Given the description of an element on the screen output the (x, y) to click on. 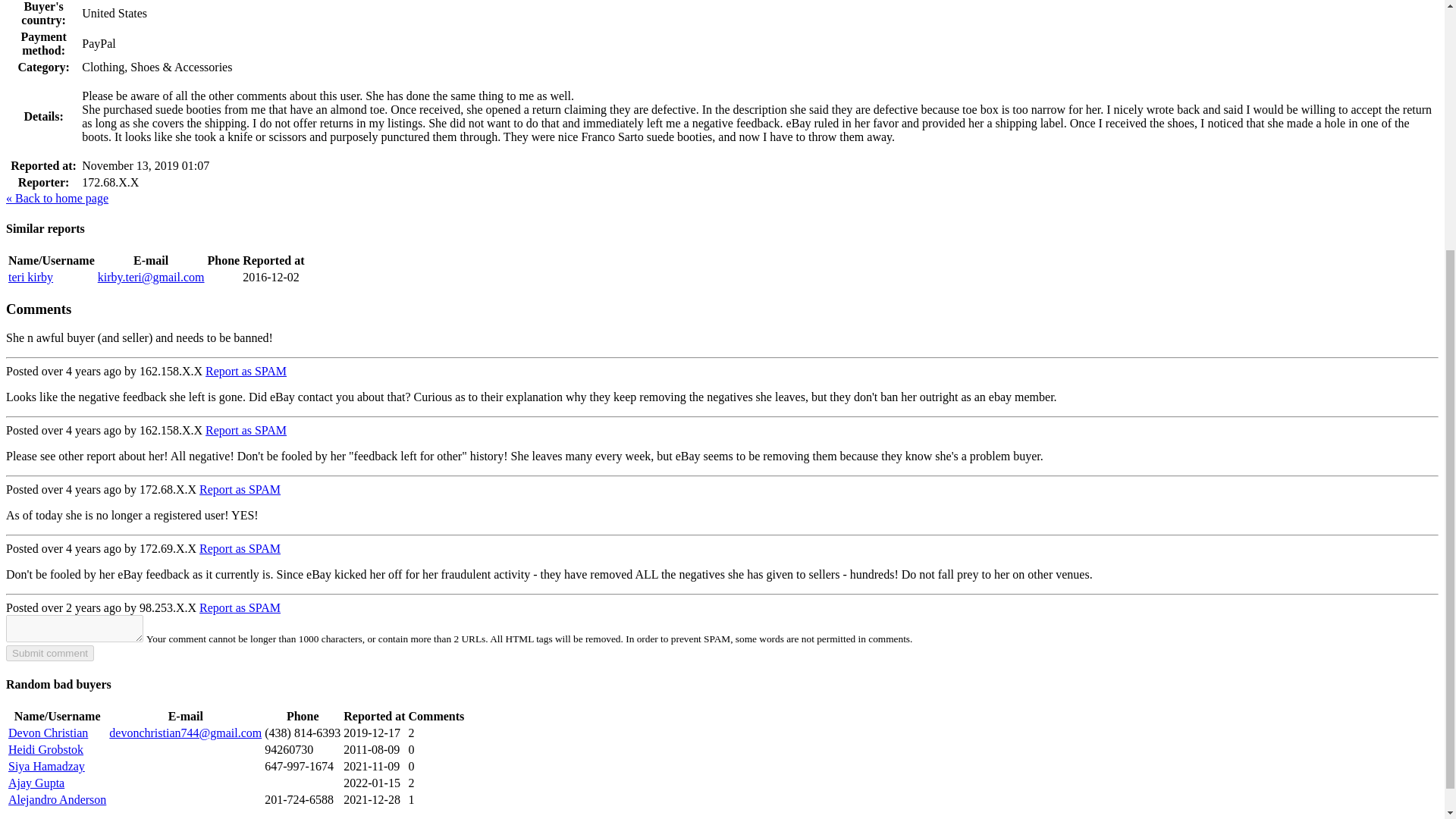
Heidi Grobstok (45, 748)
Report as SPAM (240, 607)
Report as SPAM (245, 370)
Report as SPAM (240, 548)
Submit comment (49, 652)
Alejandro Anderson (57, 799)
Siya Hamadzay (46, 766)
Ajay Gupta (36, 782)
Devon Christian (47, 732)
Report as SPAM (240, 489)
Report as SPAM (245, 430)
Submit comment (49, 652)
teri kirby (30, 277)
